Given the description of an element on the screen output the (x, y) to click on. 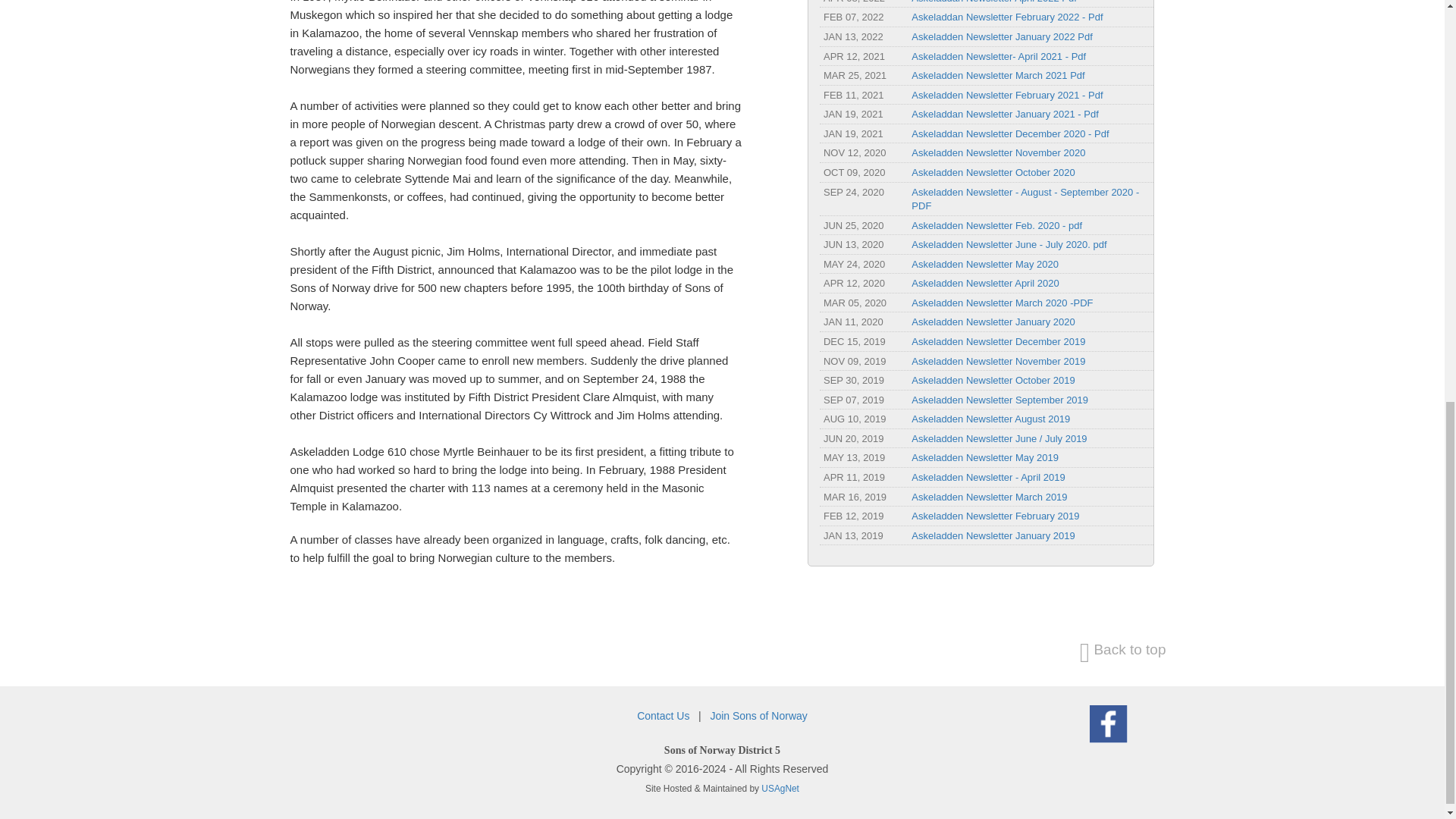
Back to top (1123, 648)
